Given the description of an element on the screen output the (x, y) to click on. 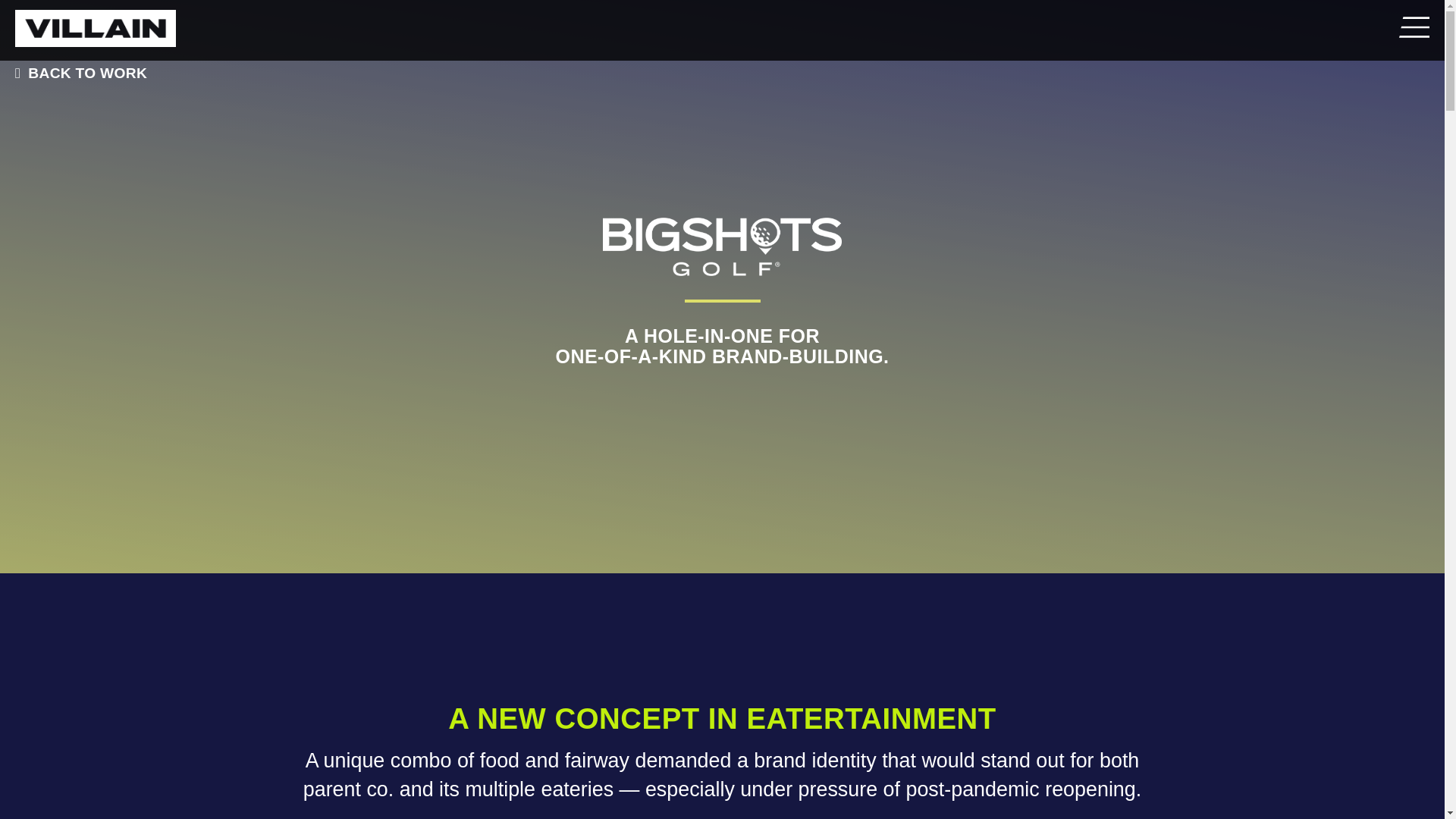
BACK TO WORK (77, 73)
